Given the description of an element on the screen output the (x, y) to click on. 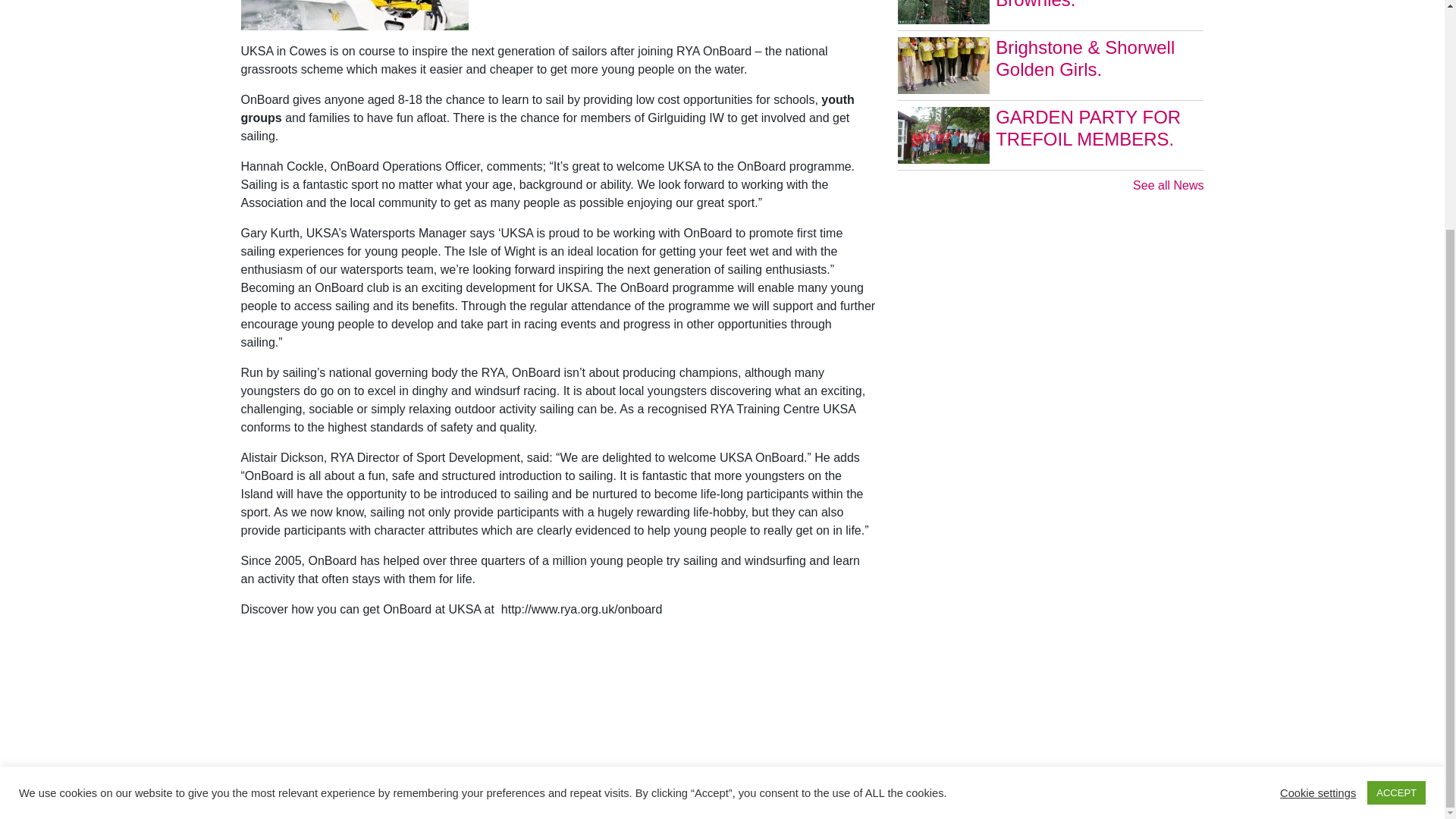
Tree- top Adventure for Brownies. (1051, 15)
GARDEN PARTY FOR TREFOIL MEMBERS. (1051, 138)
ACCEPT (1396, 483)
See all News (1051, 185)
Cookie settings (1317, 482)
